Given the description of an element on the screen output the (x, y) to click on. 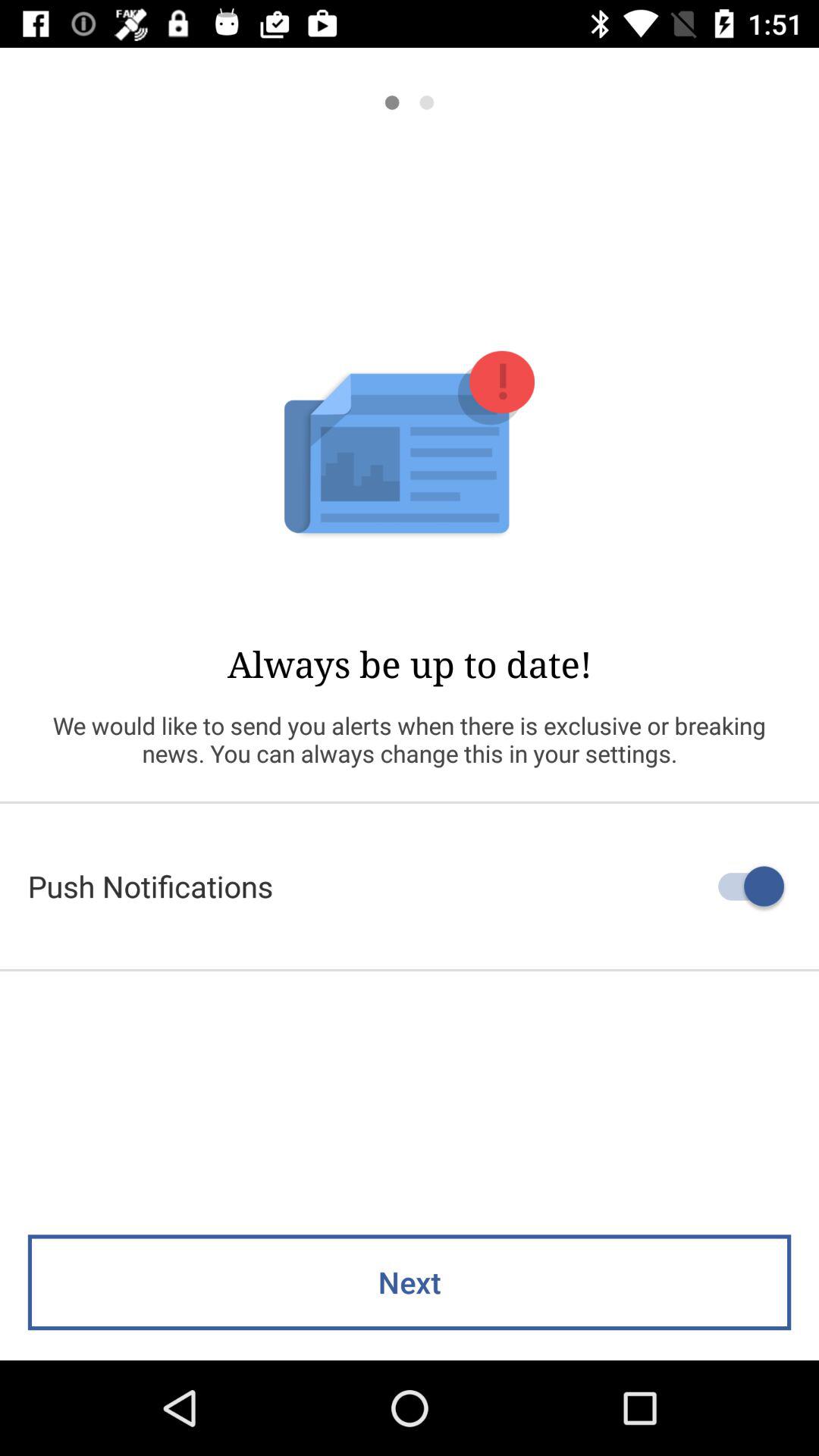
flip until next (409, 1282)
